Given the description of an element on the screen output the (x, y) to click on. 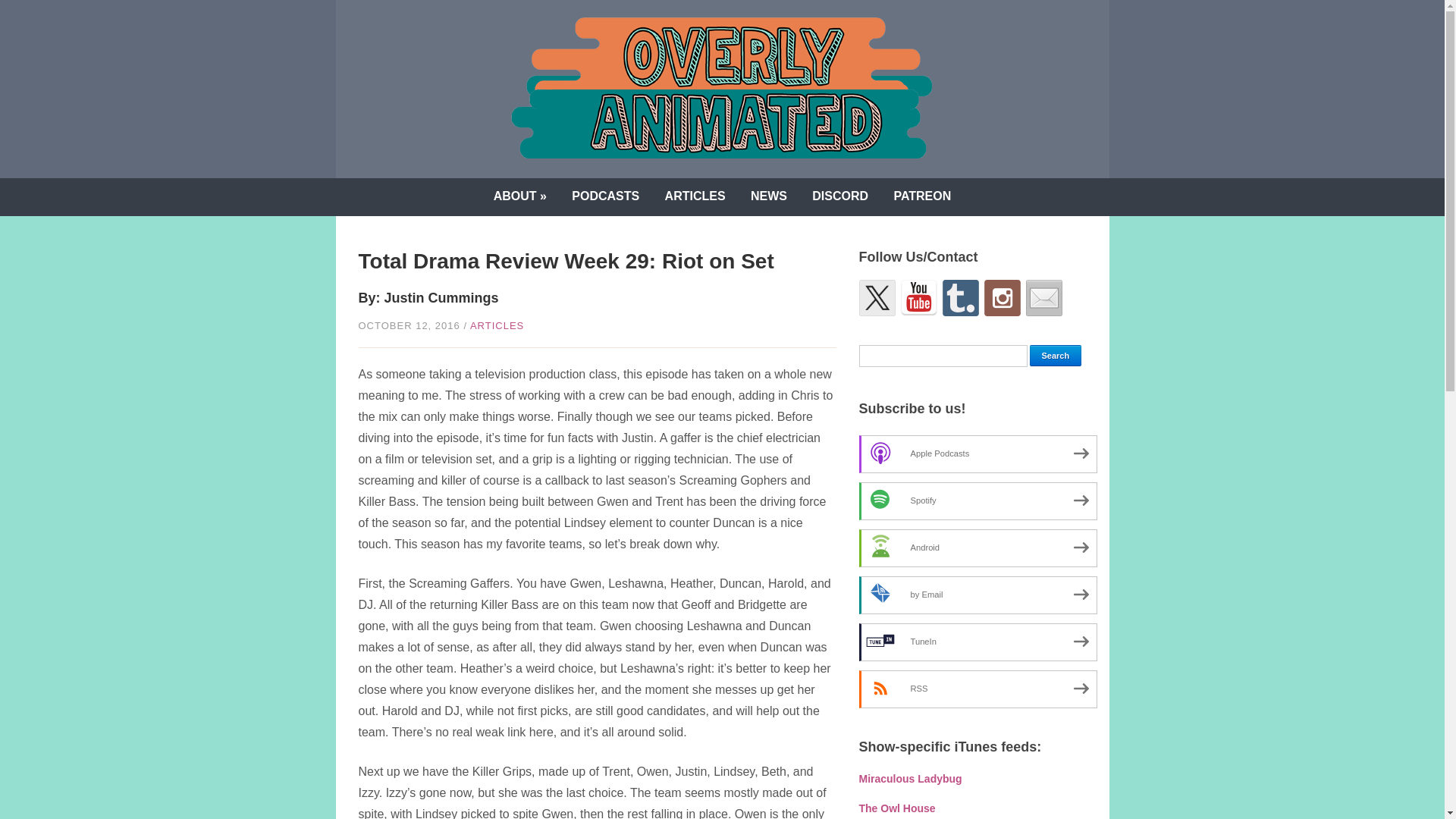
ARTICLES (497, 325)
Apple Podcasts (977, 453)
Spotify (977, 501)
Search (1055, 355)
Follow us on Twitter (877, 298)
Subscribe on Android (977, 548)
PODCASTS (605, 196)
DISCORD (839, 196)
Subscribe by Email (977, 595)
Subscribe on Apple Podcasts (977, 453)
Follow us on tumblr (960, 298)
We take animation seriously. (722, 86)
Subscribe on Spotify (977, 501)
TuneIn (977, 641)
RSS (977, 689)
